Given the description of an element on the screen output the (x, y) to click on. 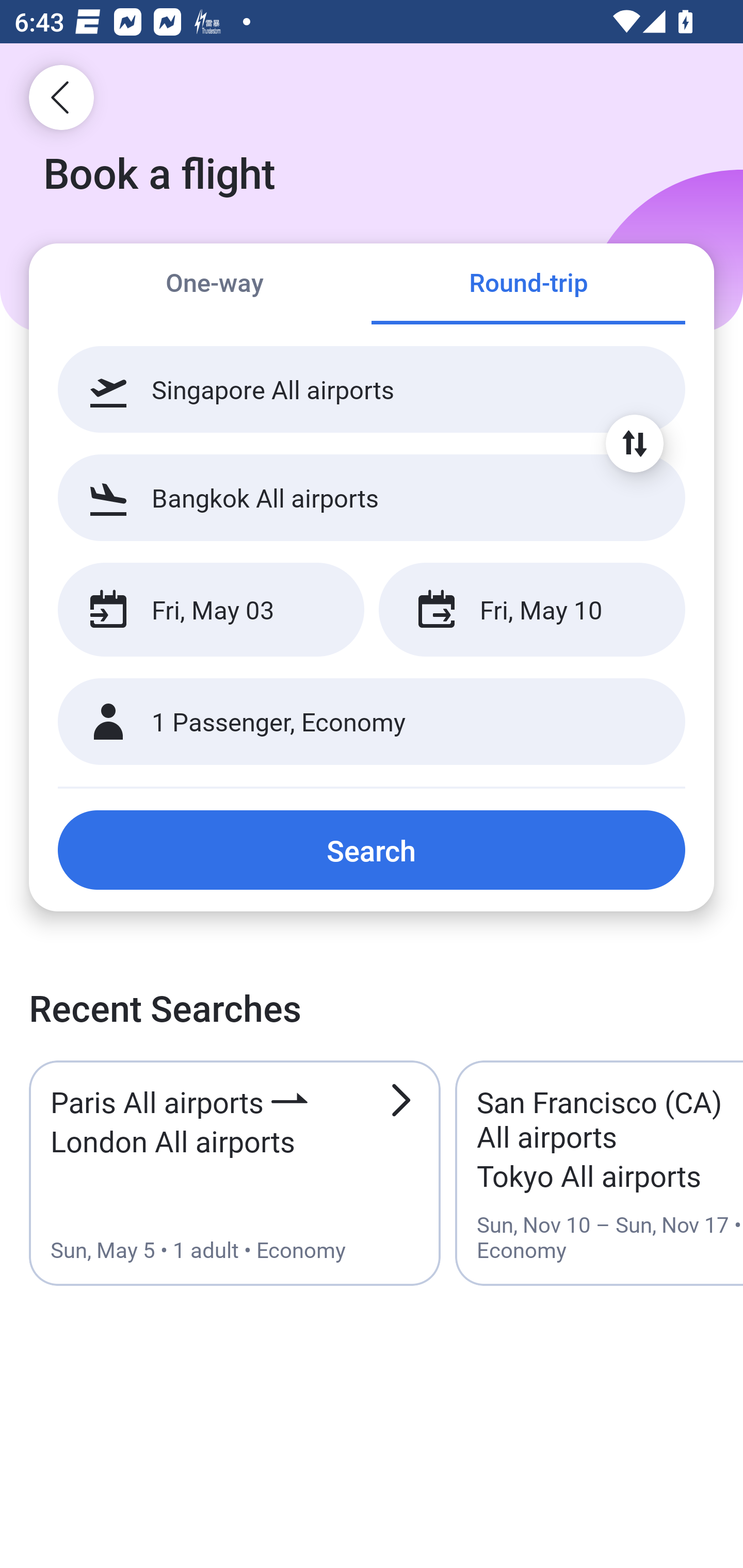
One-way (214, 284)
Singapore All airports (371, 389)
Bangkok All airports (371, 497)
Fri, May 03 (210, 609)
Fri, May 10 (531, 609)
1 Passenger, Economy (371, 721)
Search (371, 849)
